Given the description of an element on the screen output the (x, y) to click on. 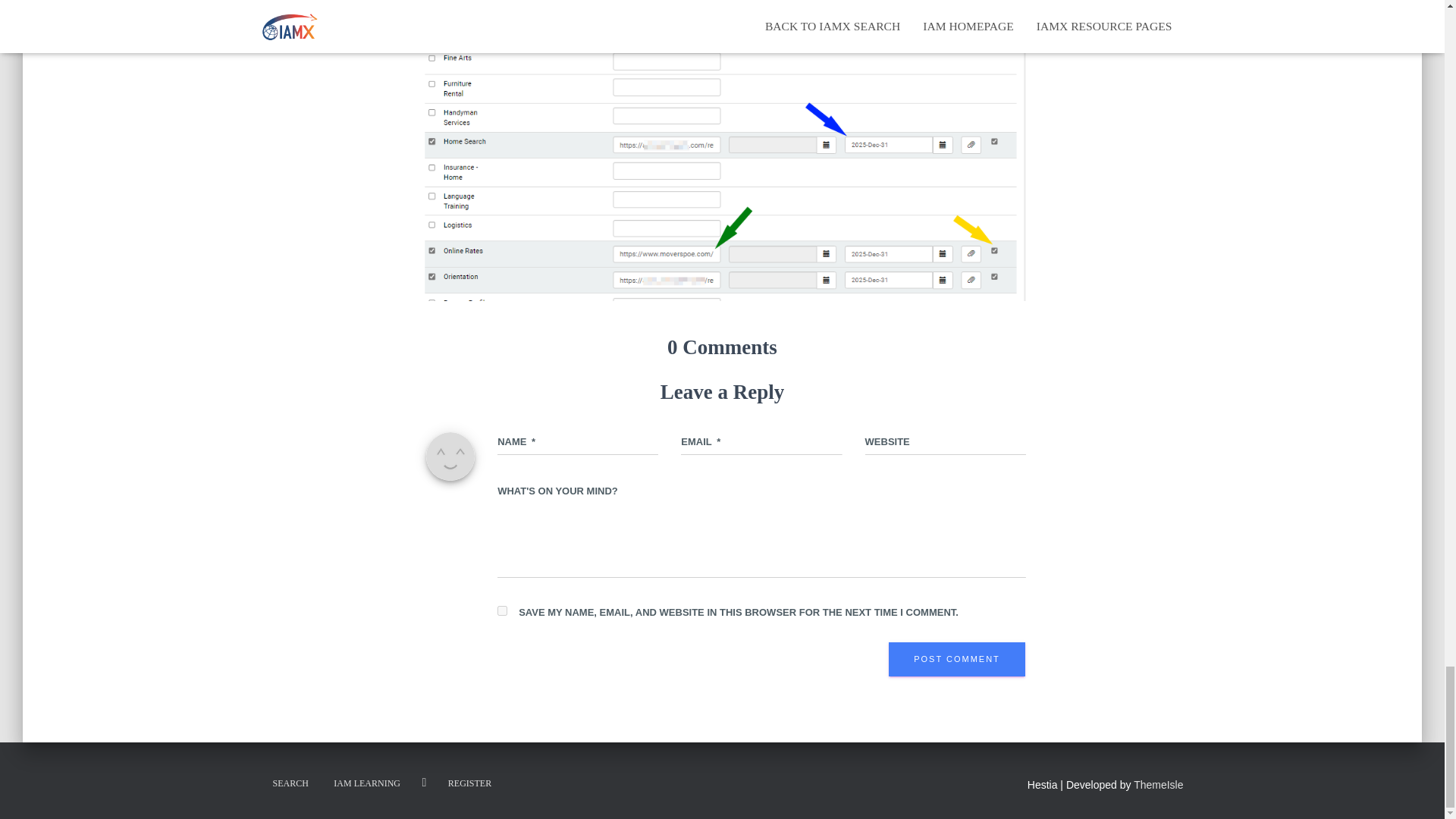
yes (501, 610)
Post Comment (956, 659)
REGISTER (469, 783)
SEARCH (289, 783)
IAM LEARNING (366, 783)
Post Comment (956, 659)
ThemeIsle (1158, 784)
